Given the description of an element on the screen output the (x, y) to click on. 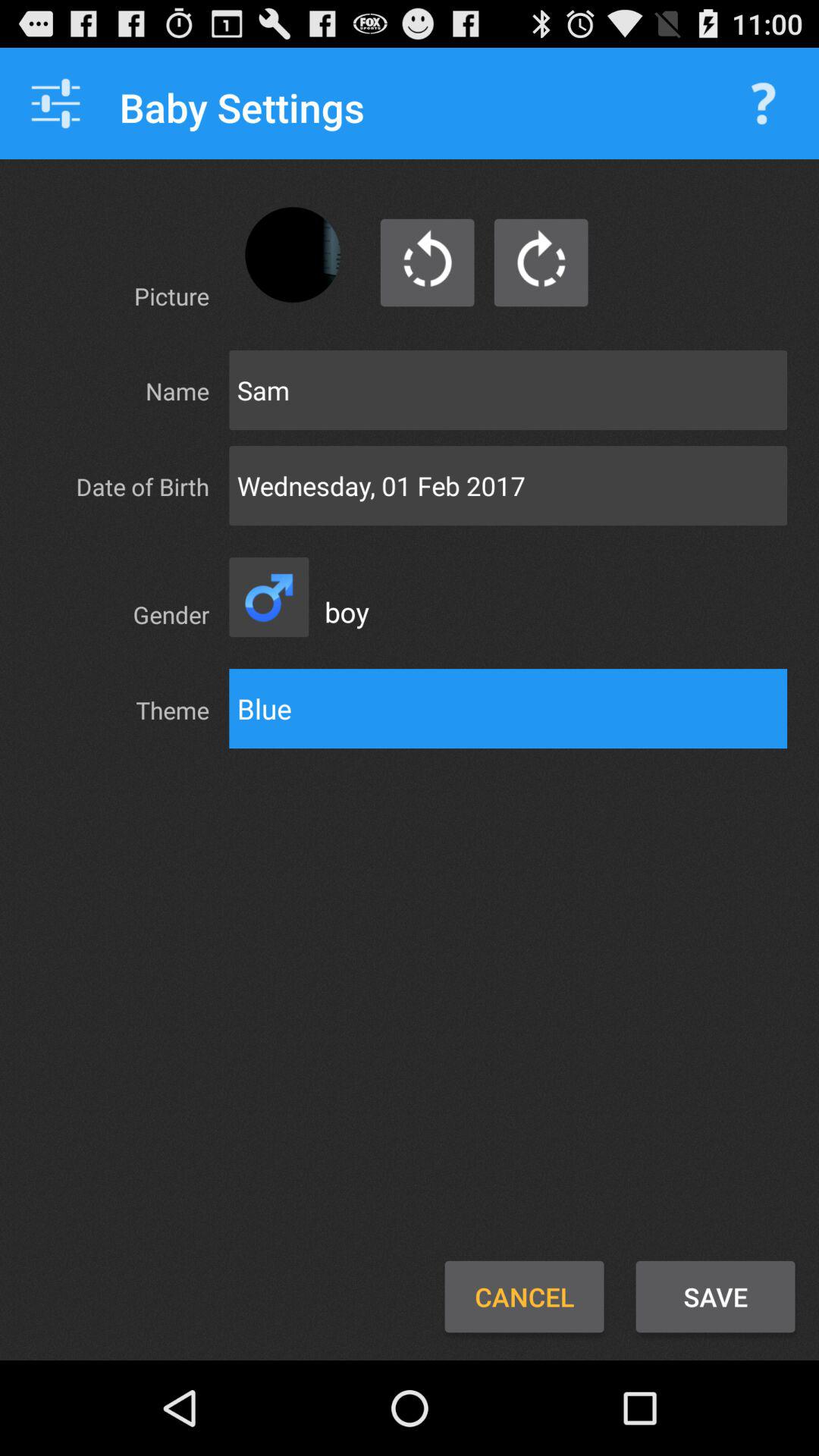
flip picture clockwise (541, 262)
